Given the description of an element on the screen output the (x, y) to click on. 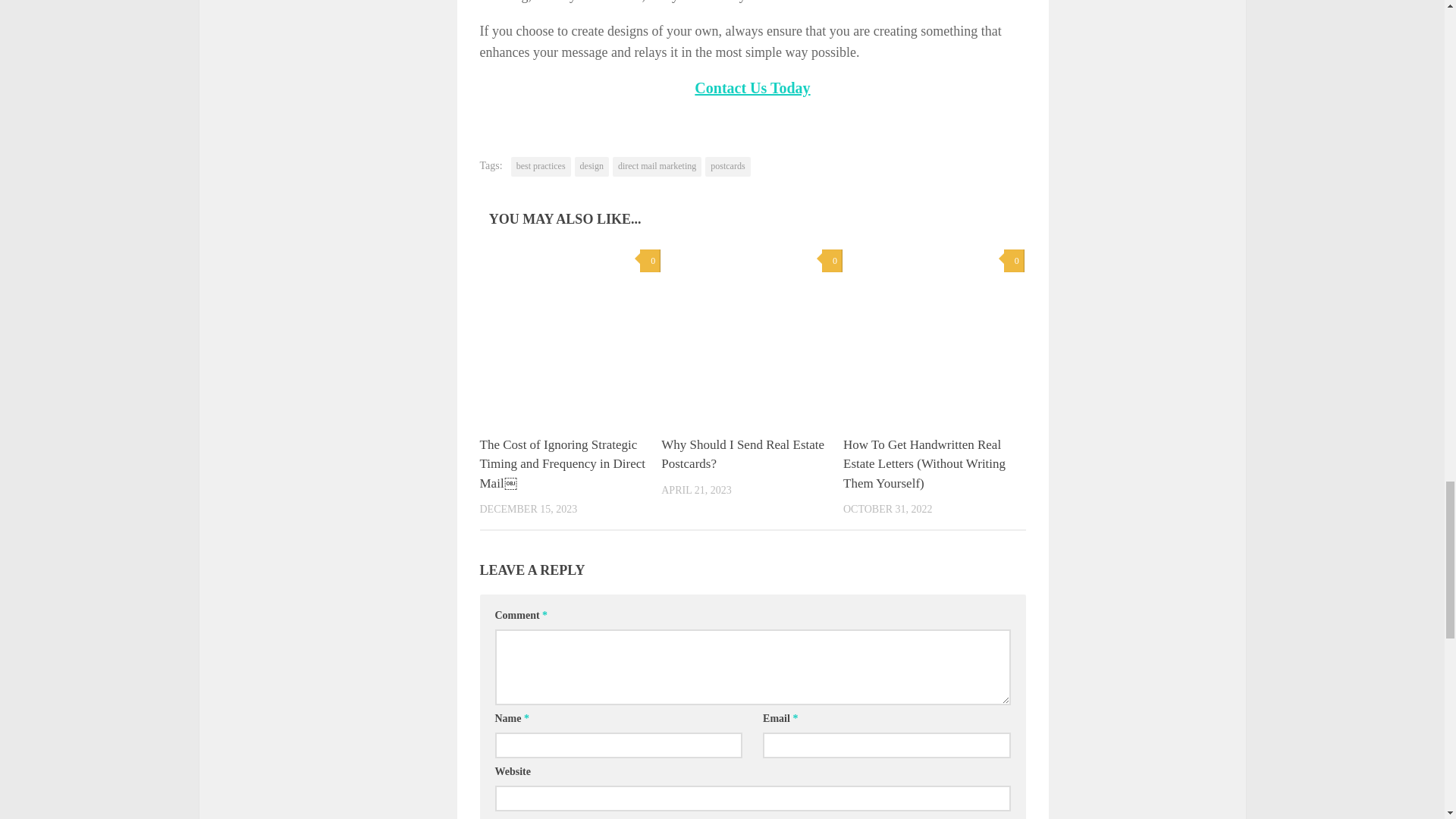
Why Should I Send Real Estate Postcards?  (742, 454)
best practices (540, 166)
postcards (726, 166)
design (591, 166)
direct mail marketing (656, 166)
Contact Us Today (751, 87)
